Given the description of an element on the screen output the (x, y) to click on. 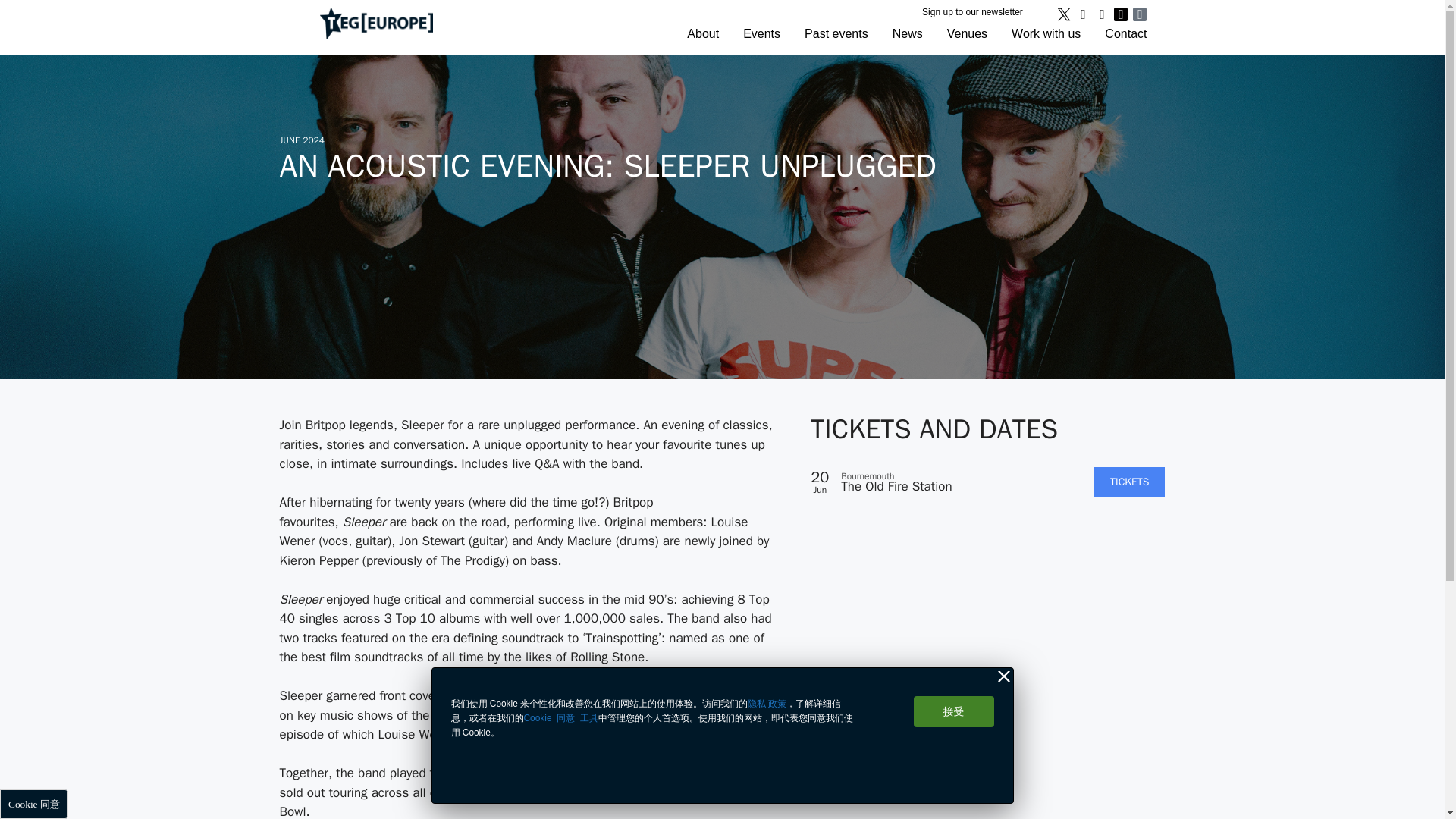
TICKETS (1129, 481)
Venues (967, 33)
TICKETS (1129, 480)
Sign up to our newsletter (972, 11)
About (703, 33)
Past events (836, 33)
Work with us (1045, 33)
News (907, 33)
Contact (1126, 33)
Events (761, 33)
